Given the description of an element on the screen output the (x, y) to click on. 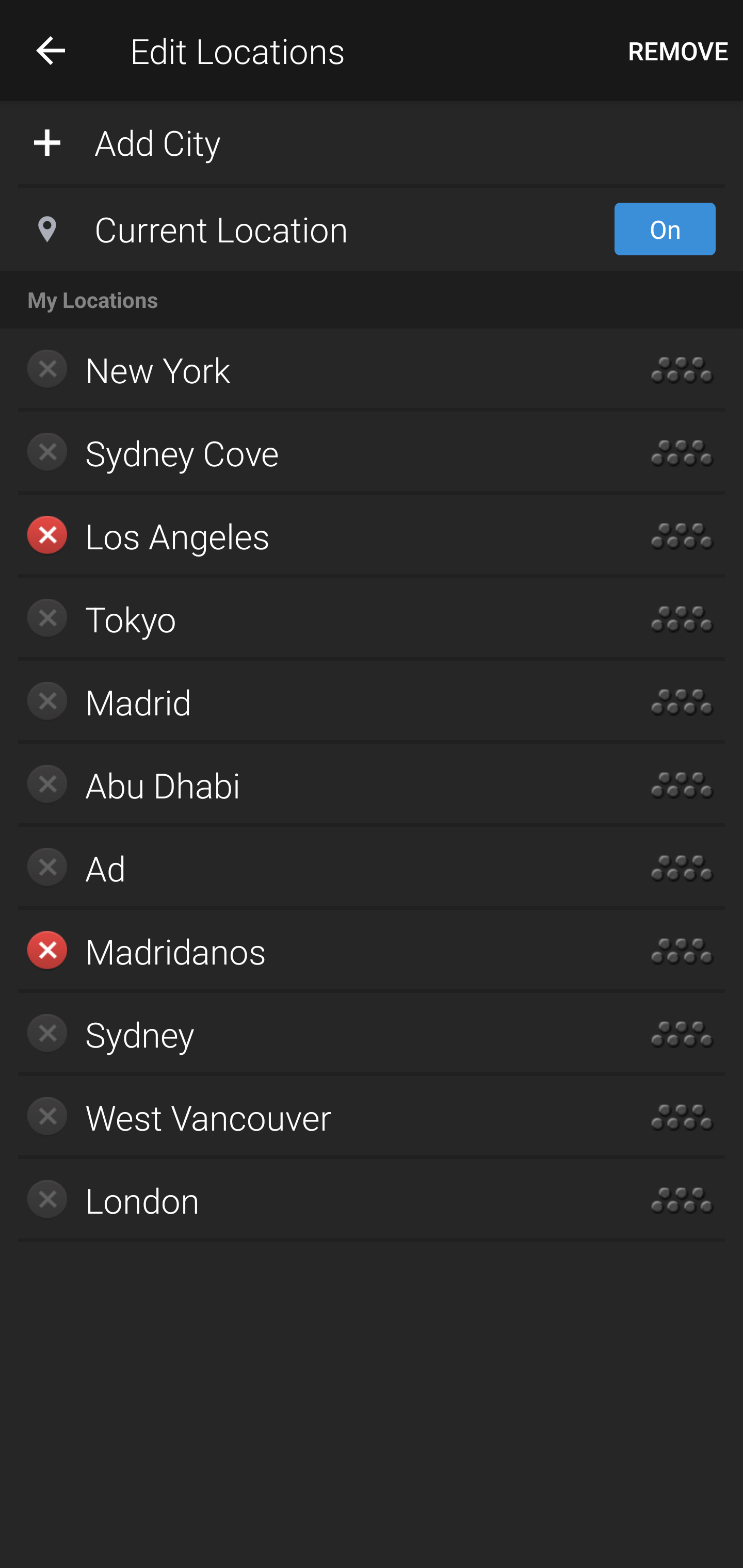
Navigate up (50, 50)
REMOVE (677, 50)
Add City (371, 141)
Current Location: On Current Location On (371, 229)
Delete: New York New York (311, 369)
Delete: Sydney Cove Sydney Cove (311, 452)
Delete: Los Angeles: Selected Los Angeles (311, 535)
Delete: Tokyo Tokyo (311, 618)
Delete: Madrid Madrid (311, 701)
Delete: Abu Dhabi Abu Dhabi (311, 784)
Delete: Ad Ad (311, 867)
Delete: Madridanos: Selected Madridanos (311, 950)
Delete: Sydney Sydney (311, 1033)
Delete: West Vancouver West Vancouver (311, 1116)
Delete: London London (311, 1200)
